Given the description of an element on the screen output the (x, y) to click on. 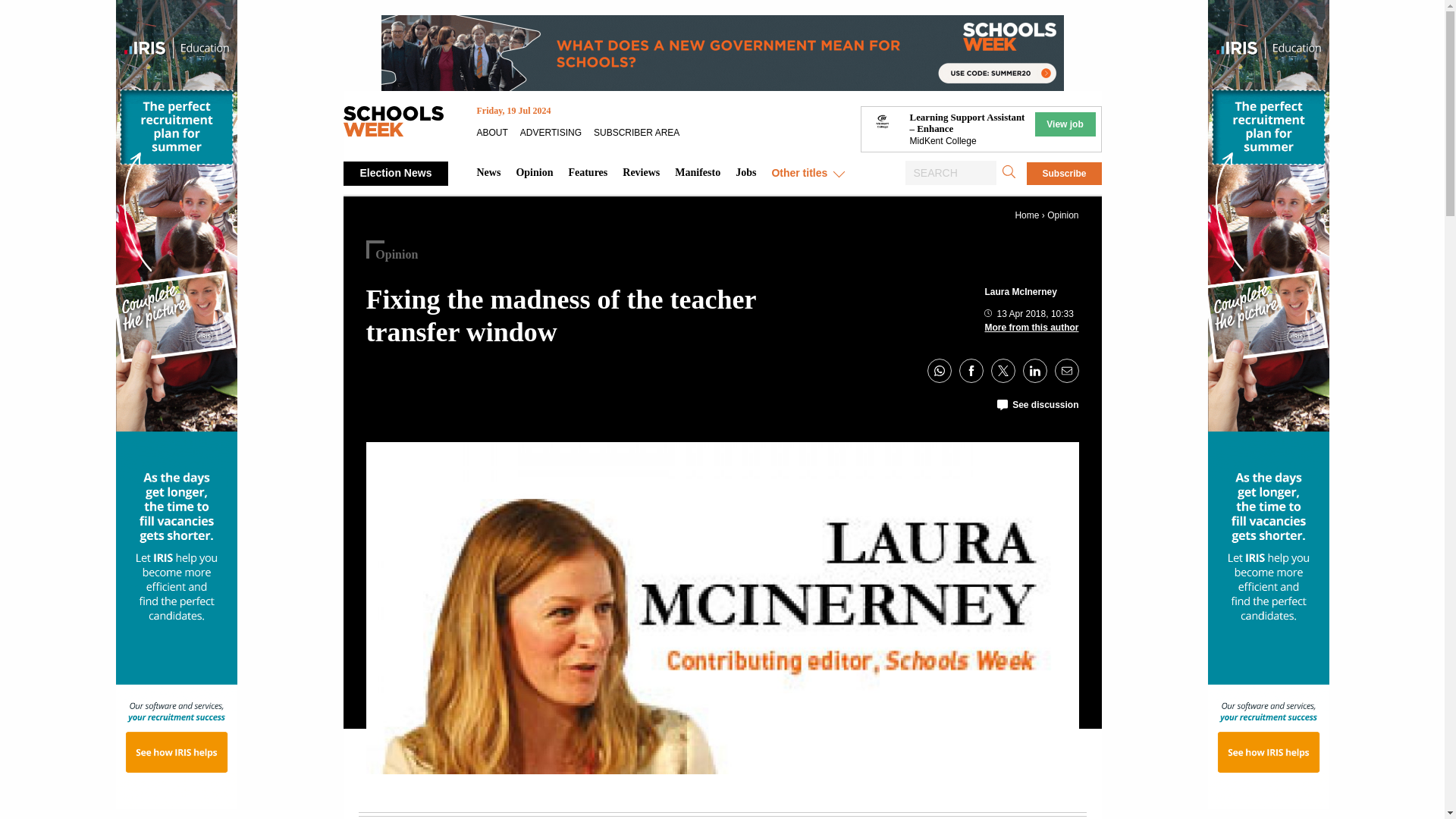
Posts by Laura McInerney (1020, 291)
Home (1026, 214)
Opinion (1062, 214)
